Given the description of an element on the screen output the (x, y) to click on. 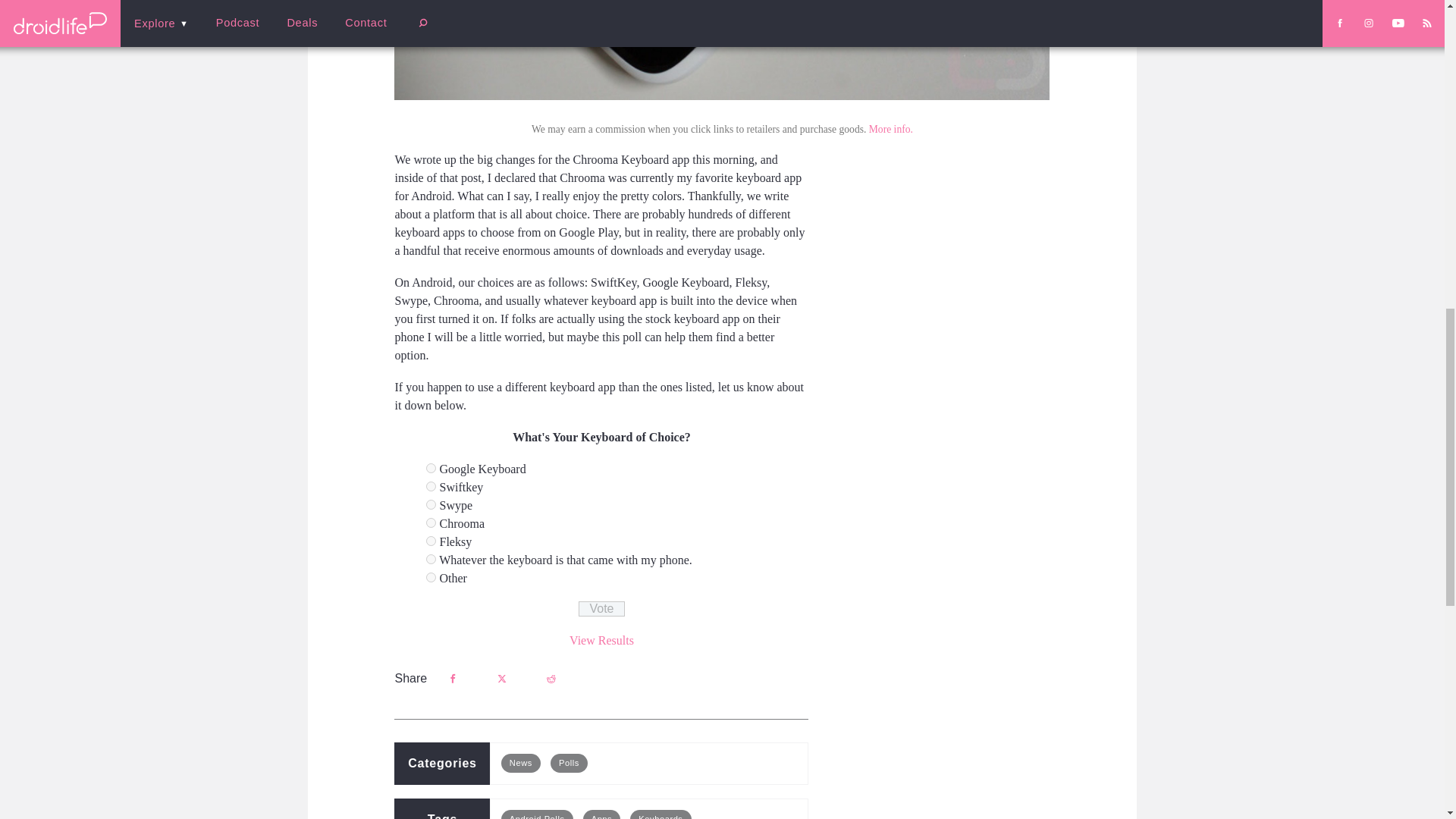
1784 (430, 559)
View Results Of This Poll (601, 640)
1780 (430, 486)
1781 (430, 504)
1779 (430, 468)
1782 (430, 522)
1783 (430, 541)
   Vote    (601, 608)
1785 (430, 577)
